Given the description of an element on the screen output the (x, y) to click on. 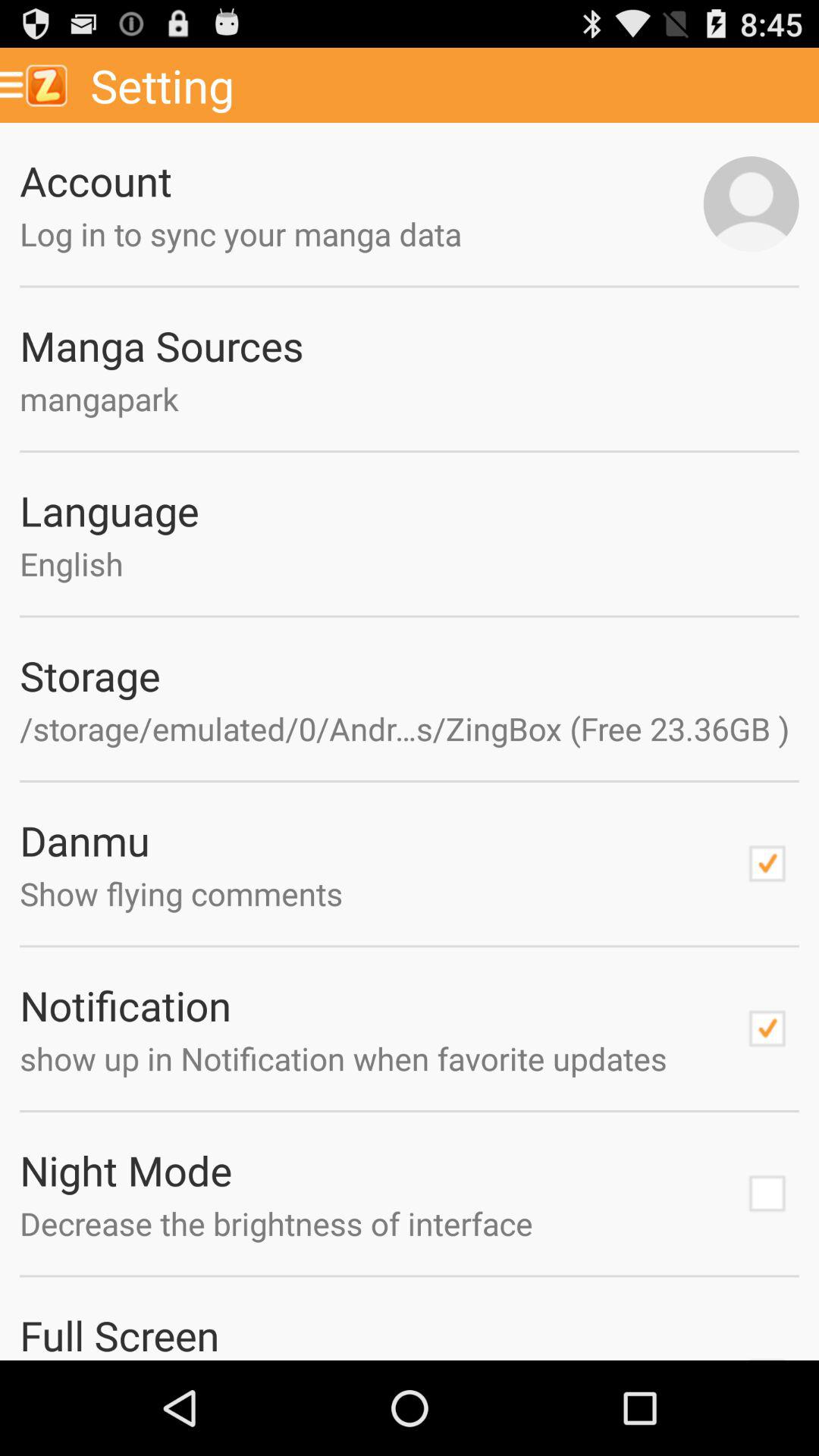
switch damnu option (767, 863)
